Given the description of an element on the screen output the (x, y) to click on. 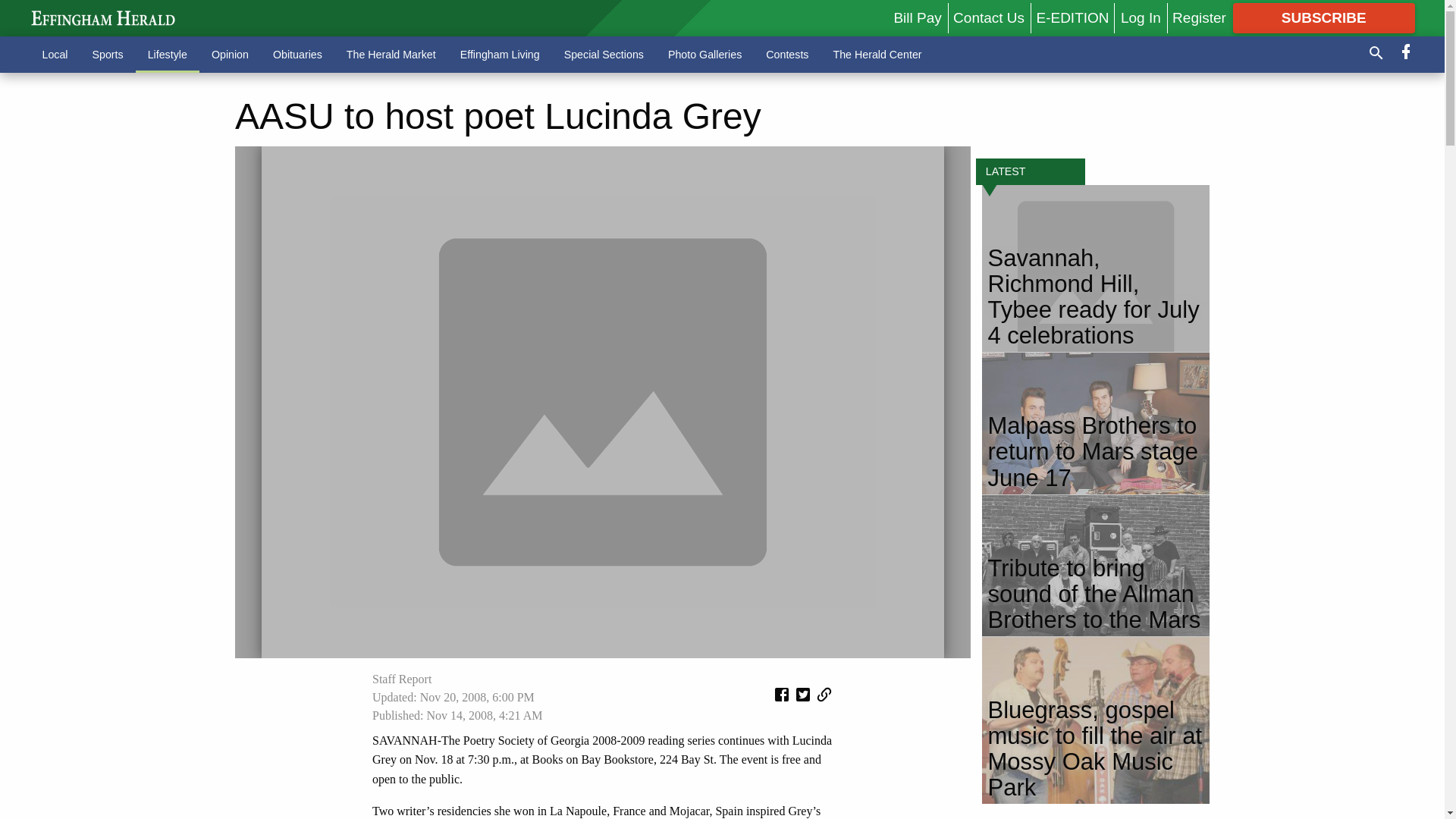
Bill Pay (916, 17)
The Herald Center (877, 54)
Obituaries (297, 54)
SUBSCRIBE (1324, 18)
Contests (787, 54)
Lifestyle (167, 54)
Effingham Living (499, 54)
Sports (107, 54)
Register (1198, 17)
Special Sections (603, 54)
